Given the description of an element on the screen output the (x, y) to click on. 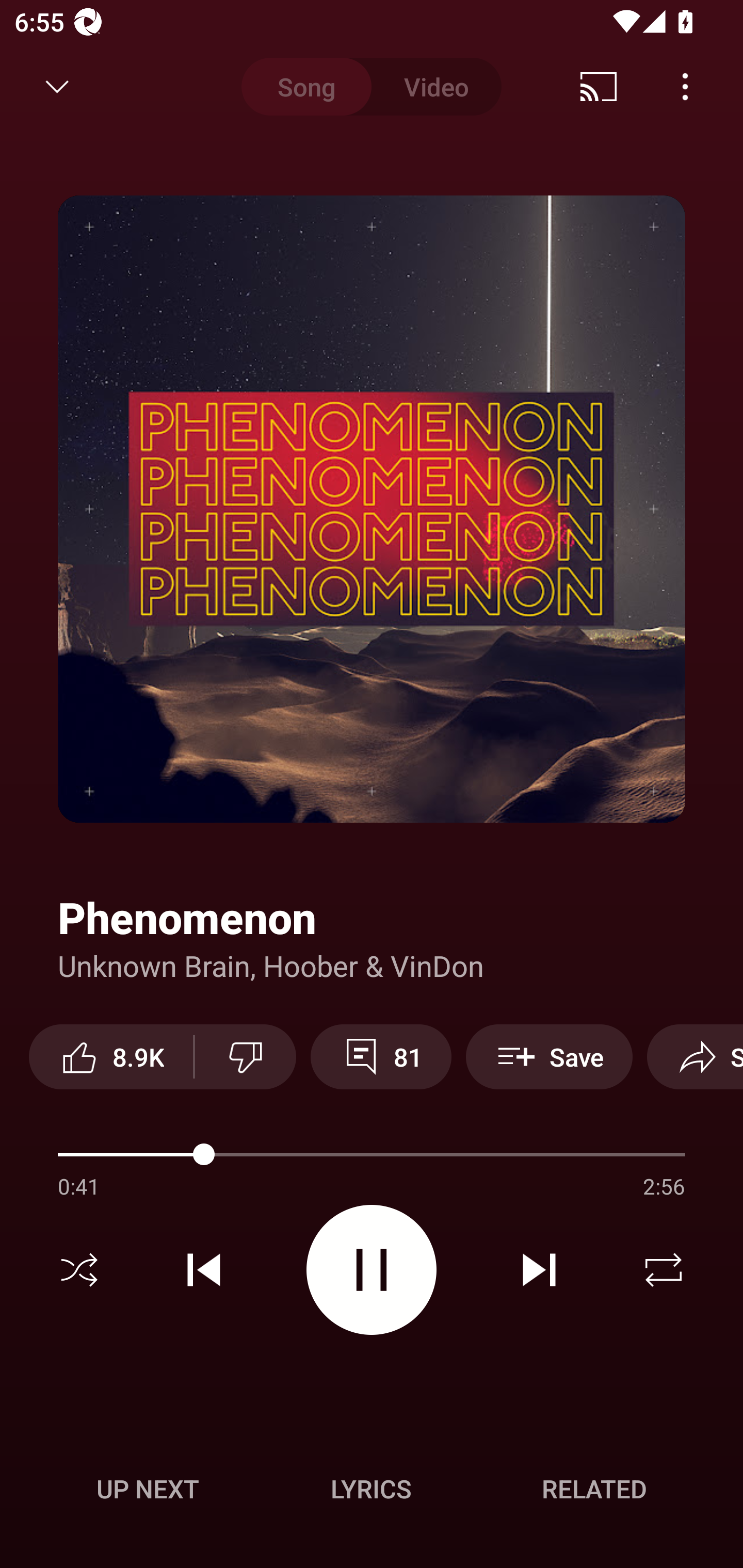
Minimize (57, 86)
Cast. Disconnected (598, 86)
Menu (684, 86)
8.9K like this video along with 8,972 other people (110, 1056)
Dislike (245, 1056)
81 View 81 comments (380, 1056)
Save Save to playlist (548, 1056)
Share (695, 1056)
Pause video (371, 1269)
Shuffle off (79, 1269)
Previous track (203, 1269)
Next track (538, 1269)
Repeat off (663, 1269)
Up next UP NEXT Lyrics LYRICS Related RELATED (371, 1491)
Lyrics LYRICS (370, 1488)
Related RELATED (594, 1488)
